Given the description of an element on the screen output the (x, y) to click on. 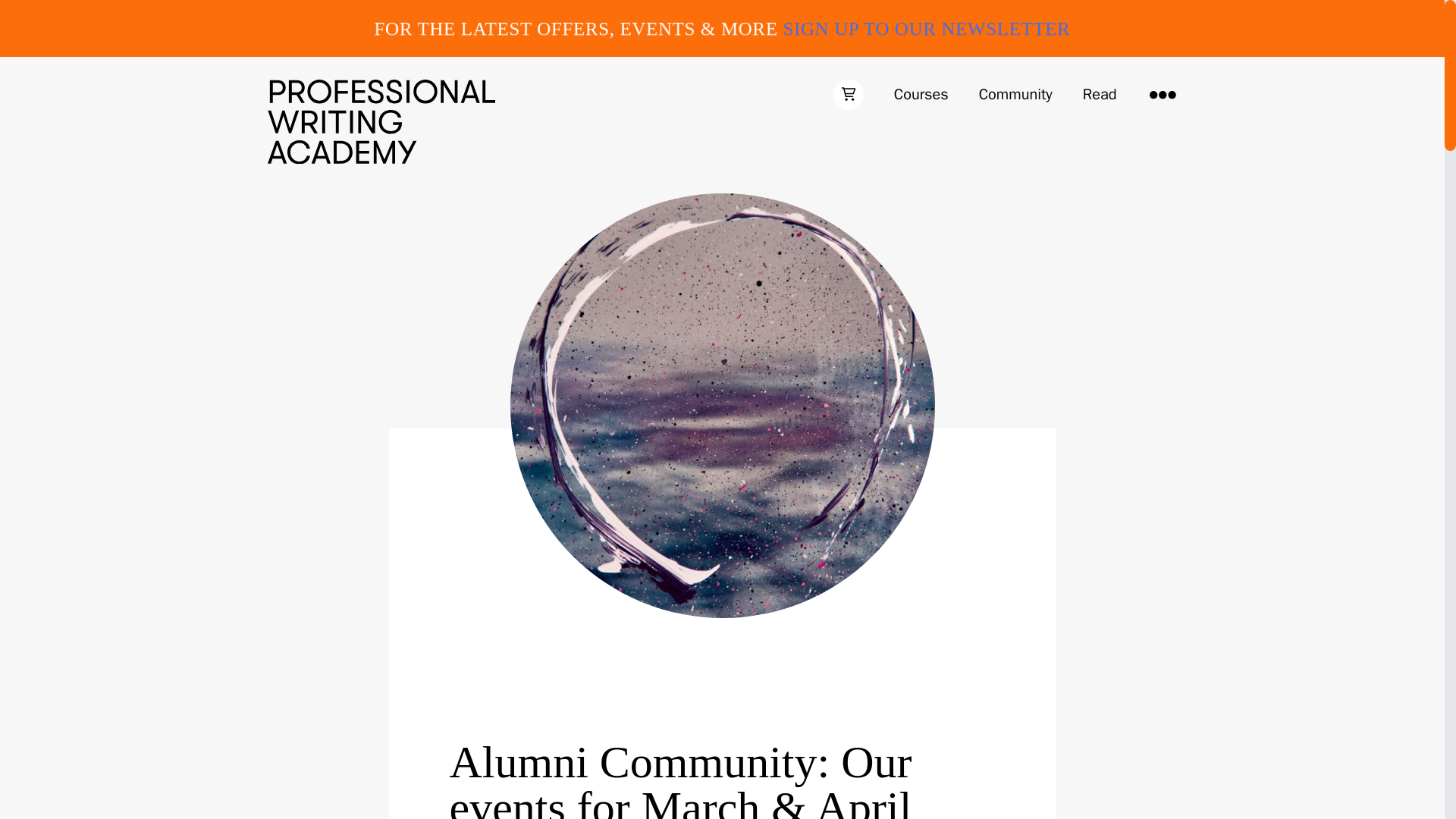
Community (1015, 94)
Courses (921, 94)
SIGN UP TO OUR NEWSLETTER (926, 28)
Read (1099, 94)
Professional Writing Academy - Setting the world to write (380, 121)
